Given the description of an element on the screen output the (x, y) to click on. 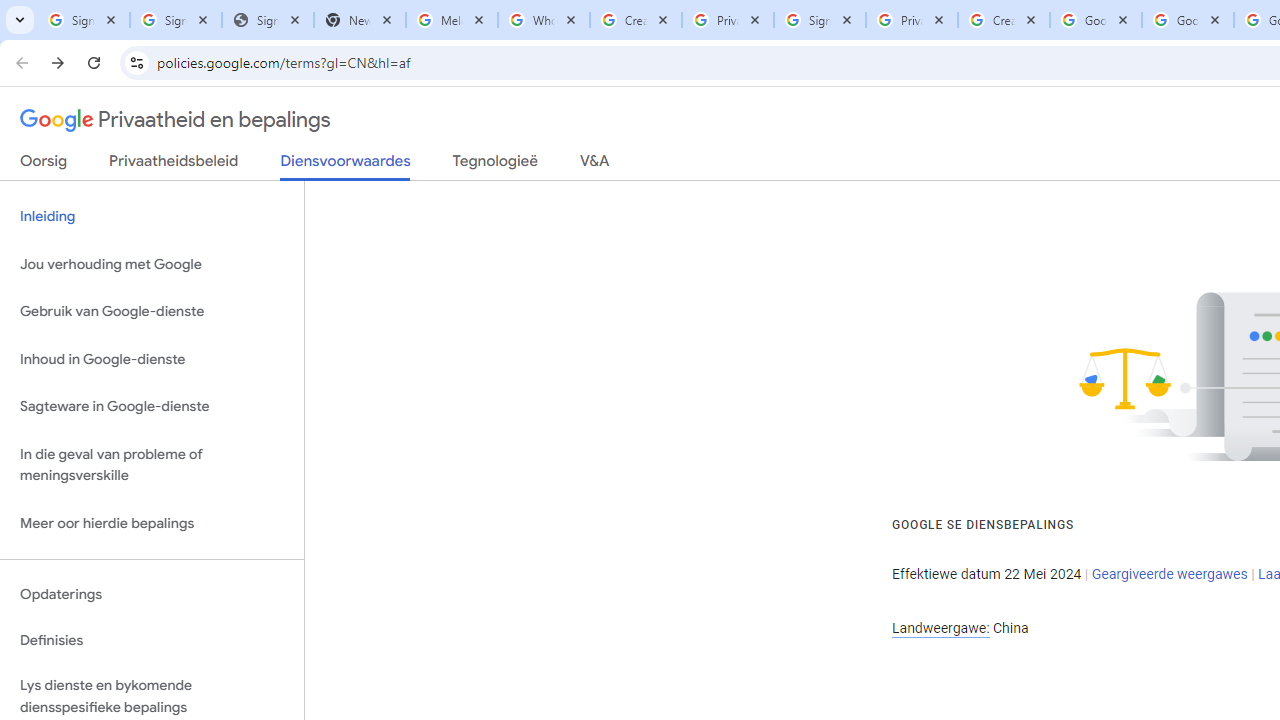
Inleiding (152, 216)
Sign in - Google Accounts (83, 20)
In die geval van probleme of meningsverskille (152, 464)
Definisies (152, 640)
Inhoud in Google-dienste (152, 358)
Diensvoorwaardes (345, 166)
Meer oor hierdie bepalings (152, 522)
New Tab (359, 20)
Gebruik van Google-dienste (152, 312)
Landweergawe: (940, 628)
Privaatheidsbeleid (173, 165)
